Given the description of an element on the screen output the (x, y) to click on. 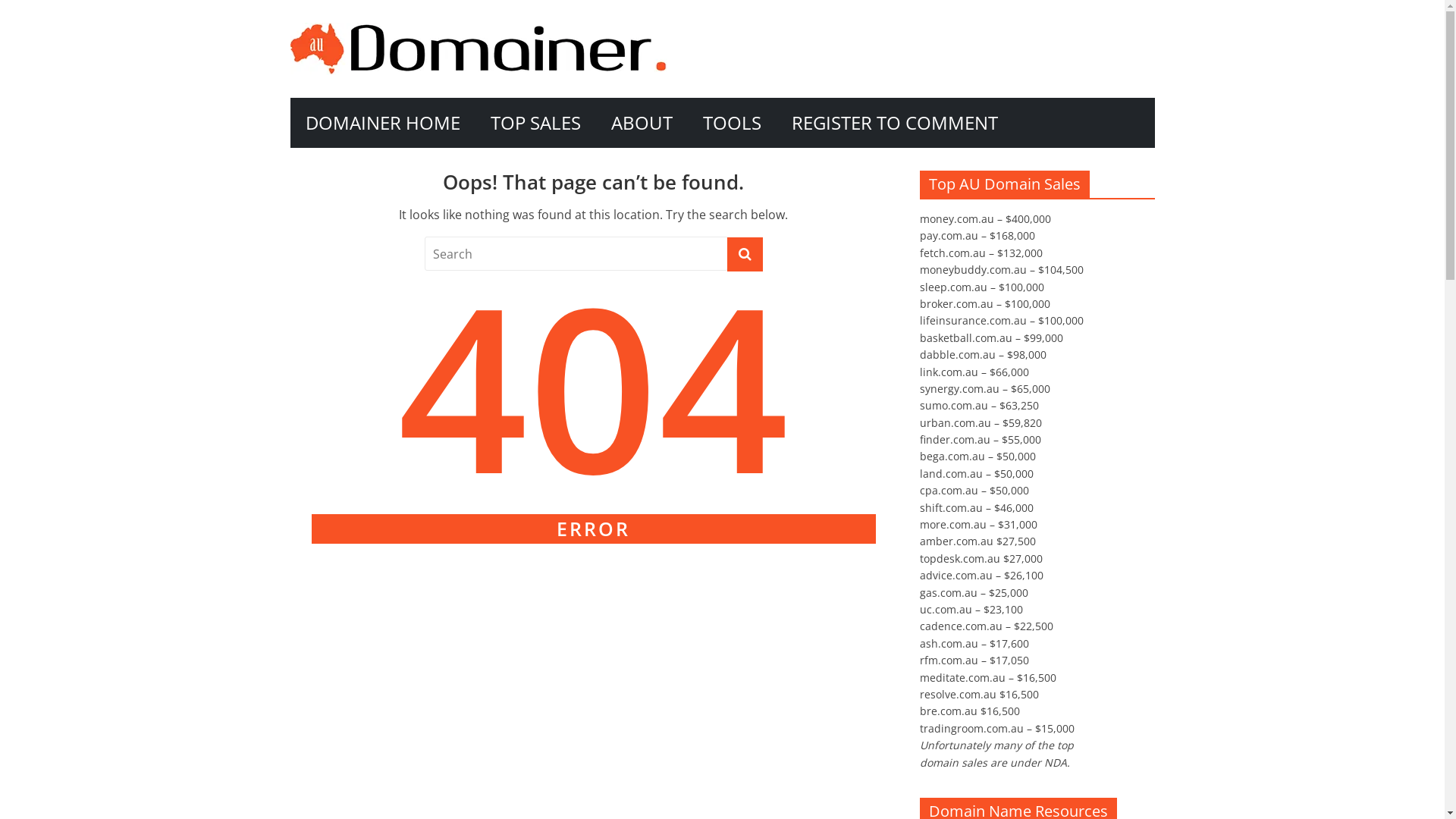
TOOLS Element type: text (731, 122)
TOP SALES Element type: text (534, 122)
ABOUT Element type: text (641, 122)
REGISTER TO COMMENT Element type: text (894, 122)
DOMAINER HOME Element type: text (381, 122)
